Given the description of an element on the screen output the (x, y) to click on. 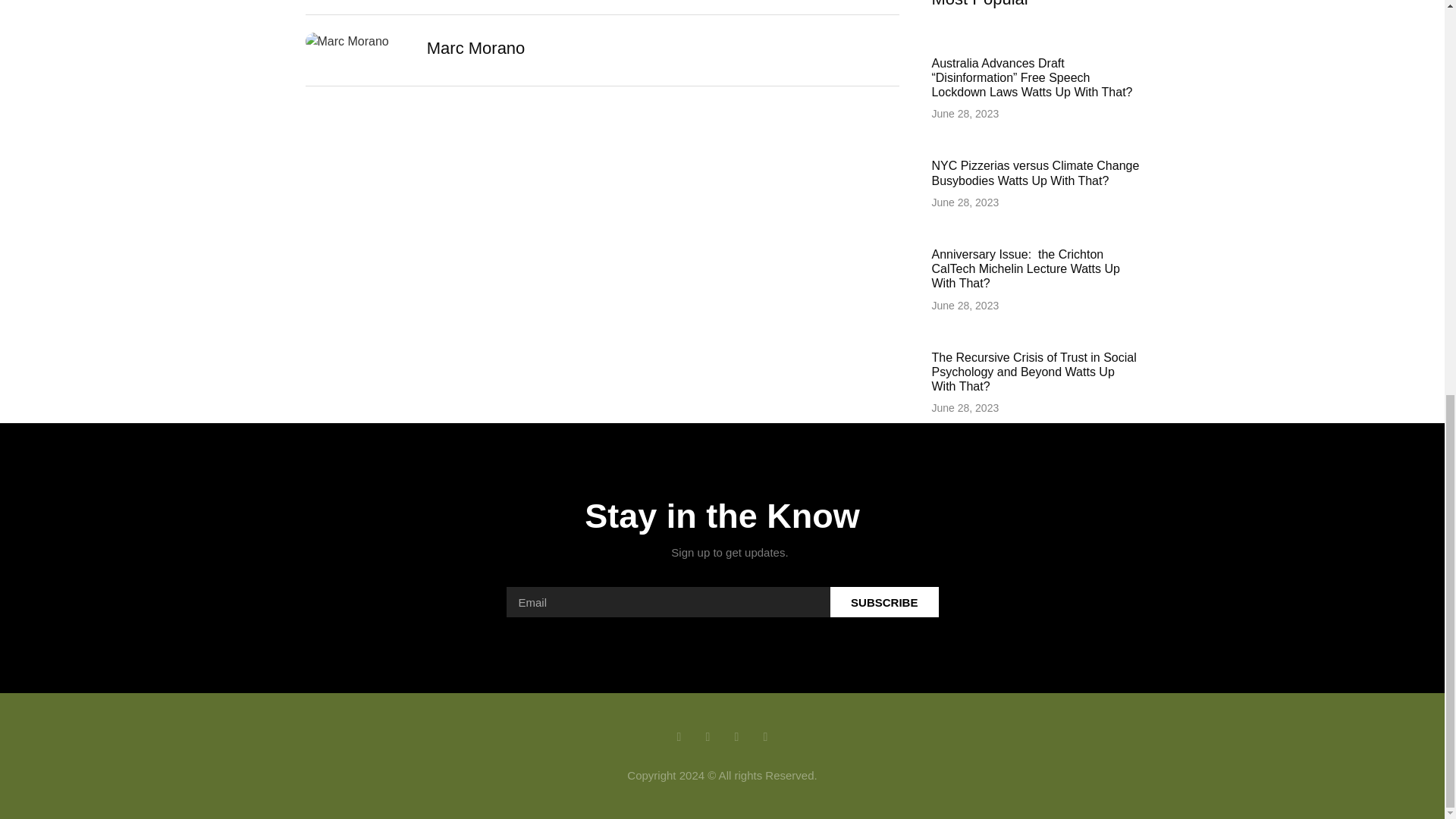
SUBSCRIBE (884, 602)
